Given the description of an element on the screen output the (x, y) to click on. 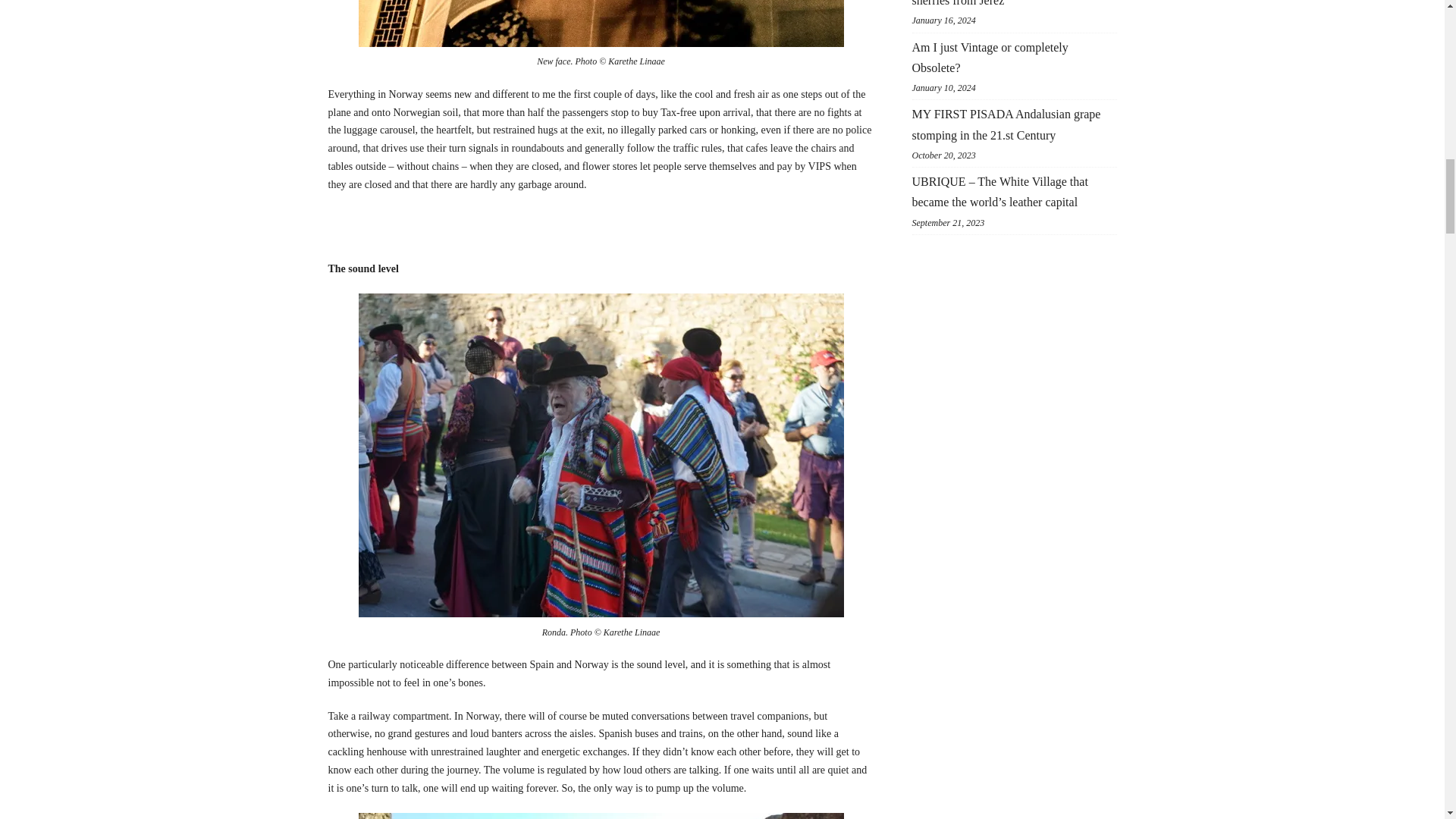
How Spanish have we become? (600, 816)
How Spanish have we become? (600, 23)
